Given the description of an element on the screen output the (x, y) to click on. 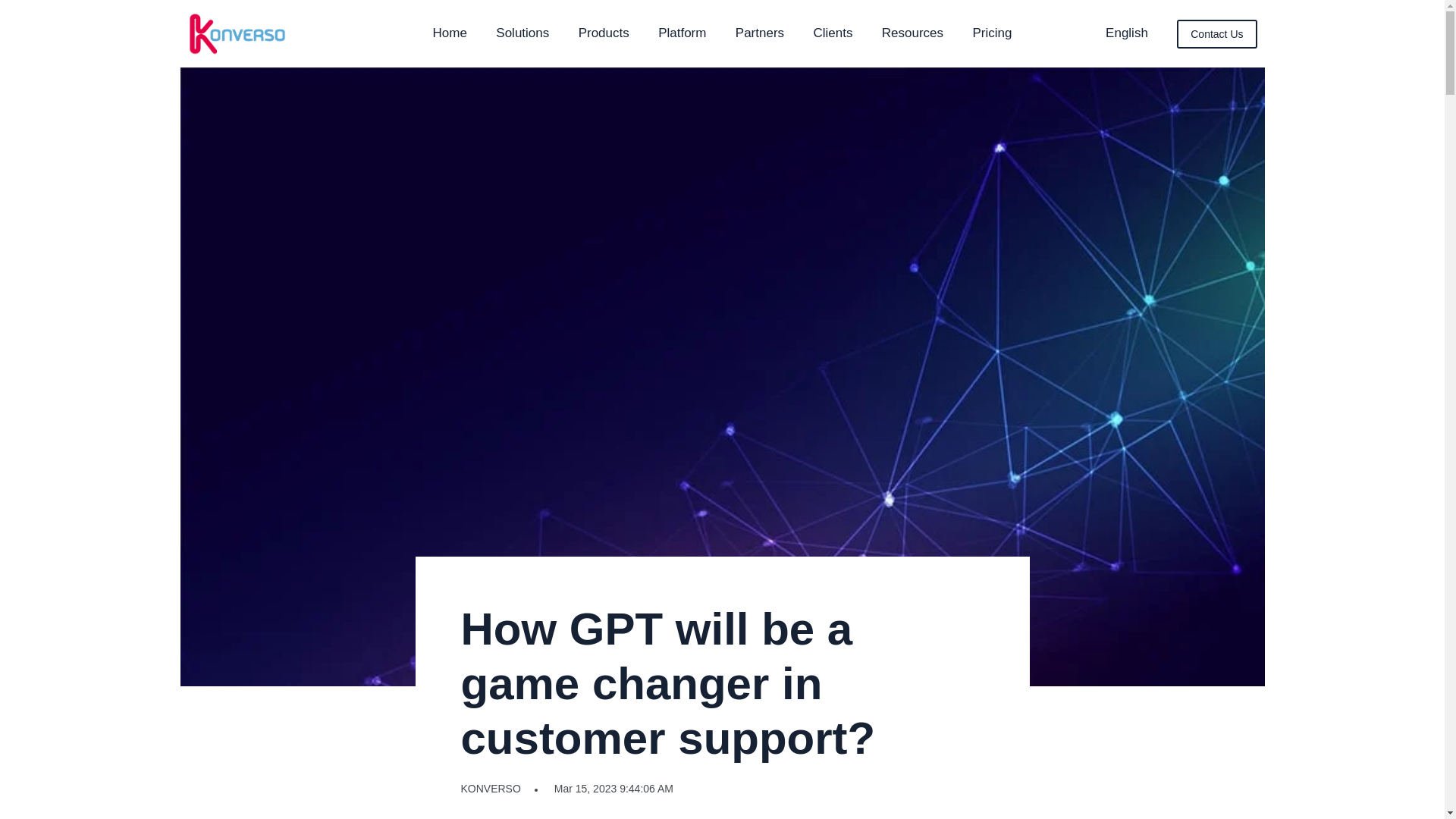
Clients (831, 32)
Resources (912, 32)
Partners (759, 32)
Platform (682, 32)
Contact Us (1216, 33)
Solutions (522, 32)
Products (603, 32)
Pricing (991, 32)
Home (449, 32)
